Given the description of an element on the screen output the (x, y) to click on. 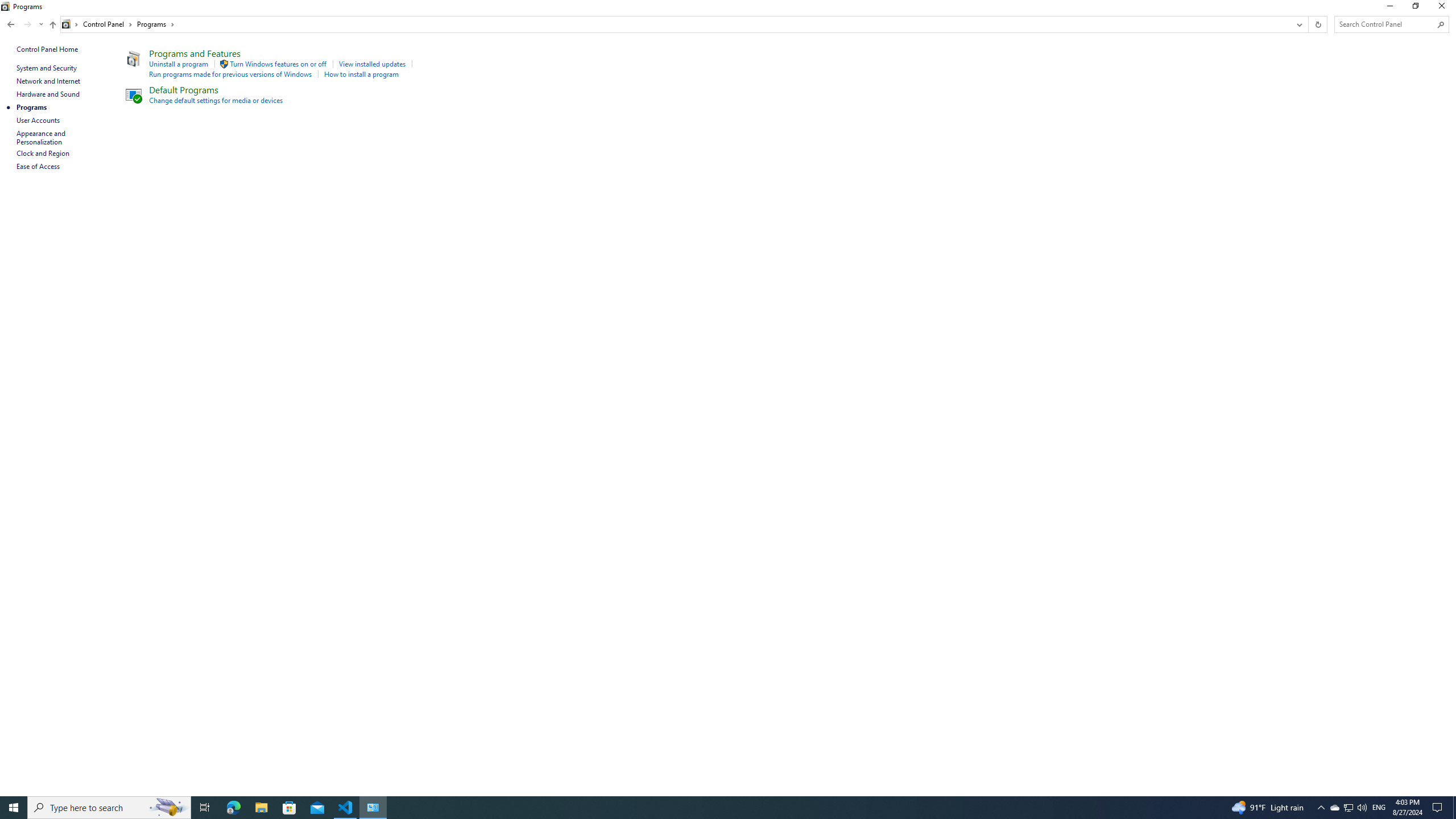
Control Panel (107, 23)
Default Programs (183, 89)
View installed updates (371, 63)
Appearance and Personalization (42, 137)
How to install a program (361, 73)
Restore (1415, 8)
Control Panel - 1 running window (373, 807)
Uninstall a program (178, 63)
Task View (204, 807)
Minimize (1388, 8)
Up band toolbar (52, 26)
Search Box (1386, 23)
Microsoft Edge (233, 807)
Forward (Alt + Right Arrow) (27, 23)
Change default settings for media or devices (215, 99)
